Given the description of an element on the screen output the (x, y) to click on. 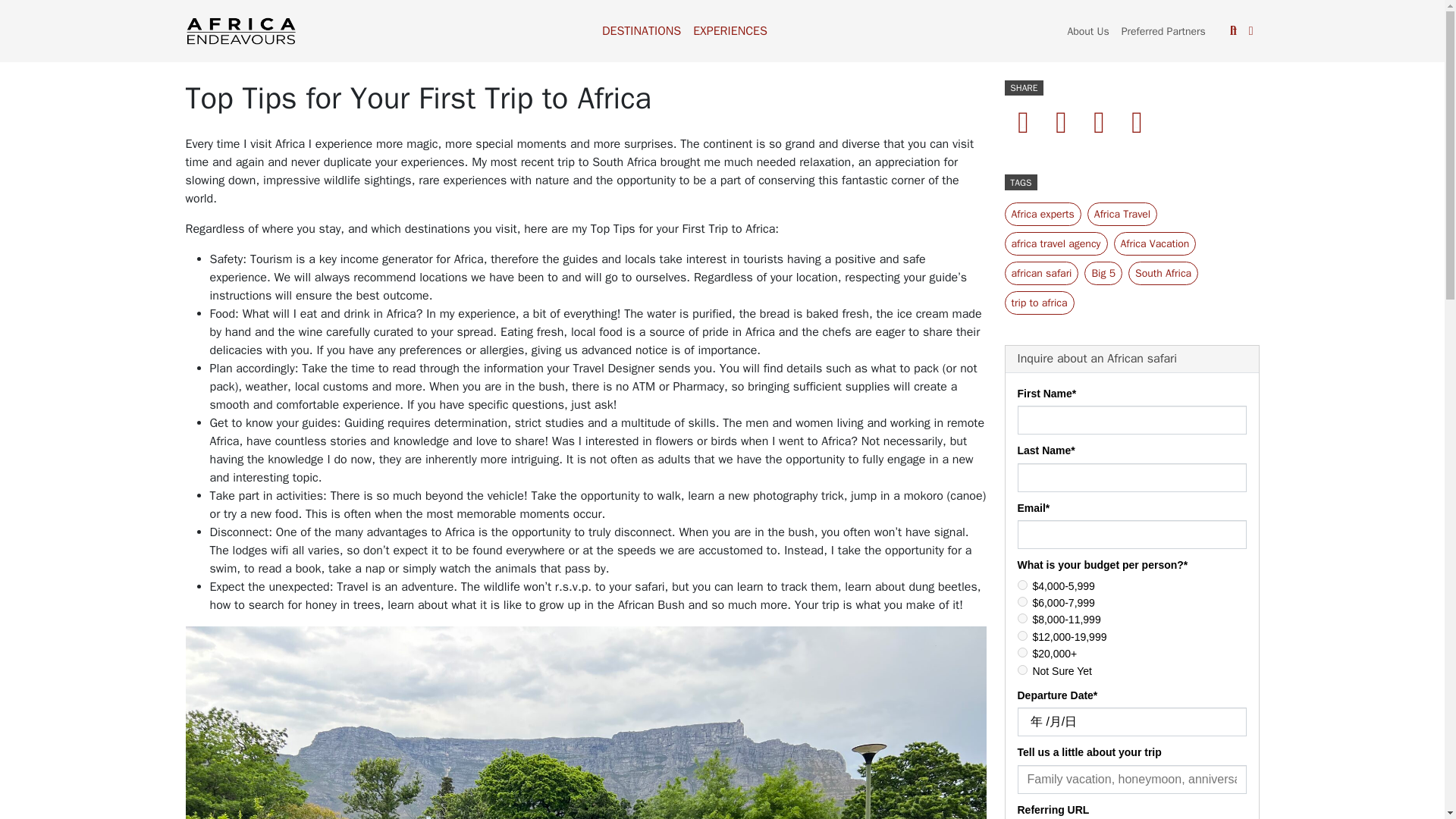
DESTINATIONS (641, 30)
Destinations (641, 30)
Not Sure Yet (1022, 669)
Africa Endeavours (239, 30)
EXPERIENCES (730, 30)
About Us (1088, 30)
